Given the description of an element on the screen output the (x, y) to click on. 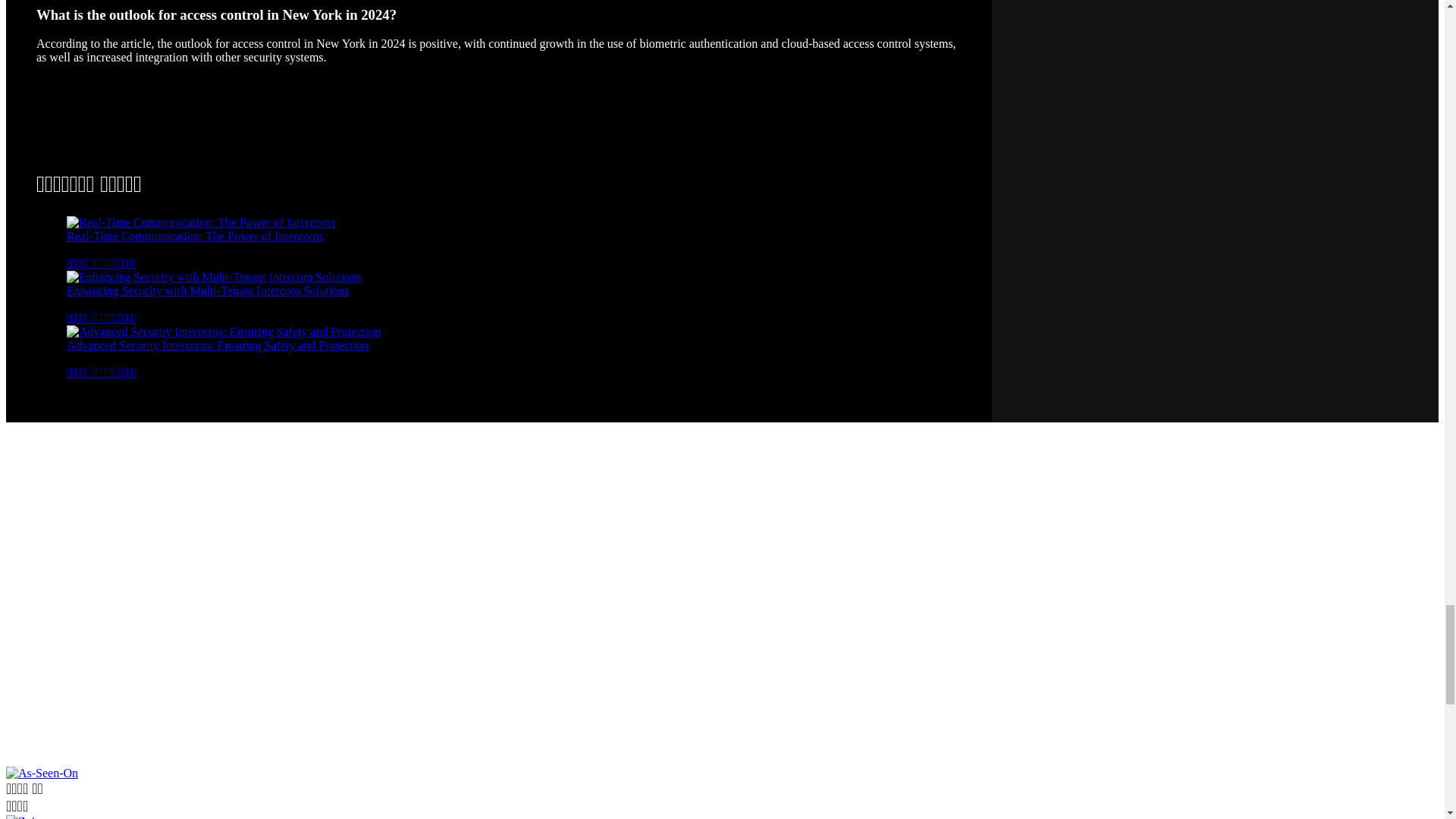
Enhancing Security with Multi-Tenant Intercom Solutions (213, 277)
Advanced Security Intercoms: Ensuring Safety and Protection (223, 331)
Real-Time Communication: The Power of Intercoms (200, 222)
